Given the description of an element on the screen output the (x, y) to click on. 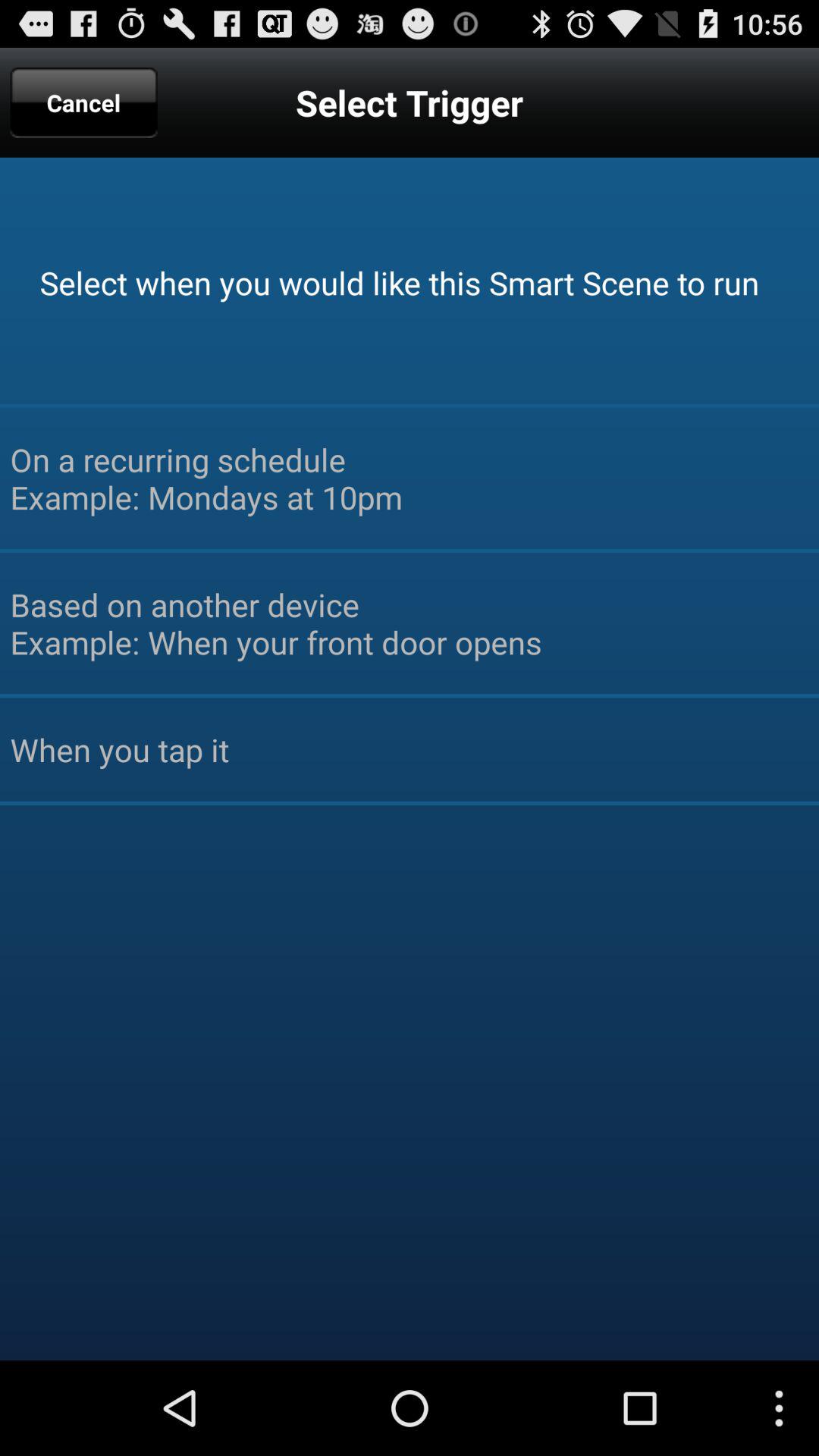
swipe until the cancel (83, 102)
